Given the description of an element on the screen output the (x, y) to click on. 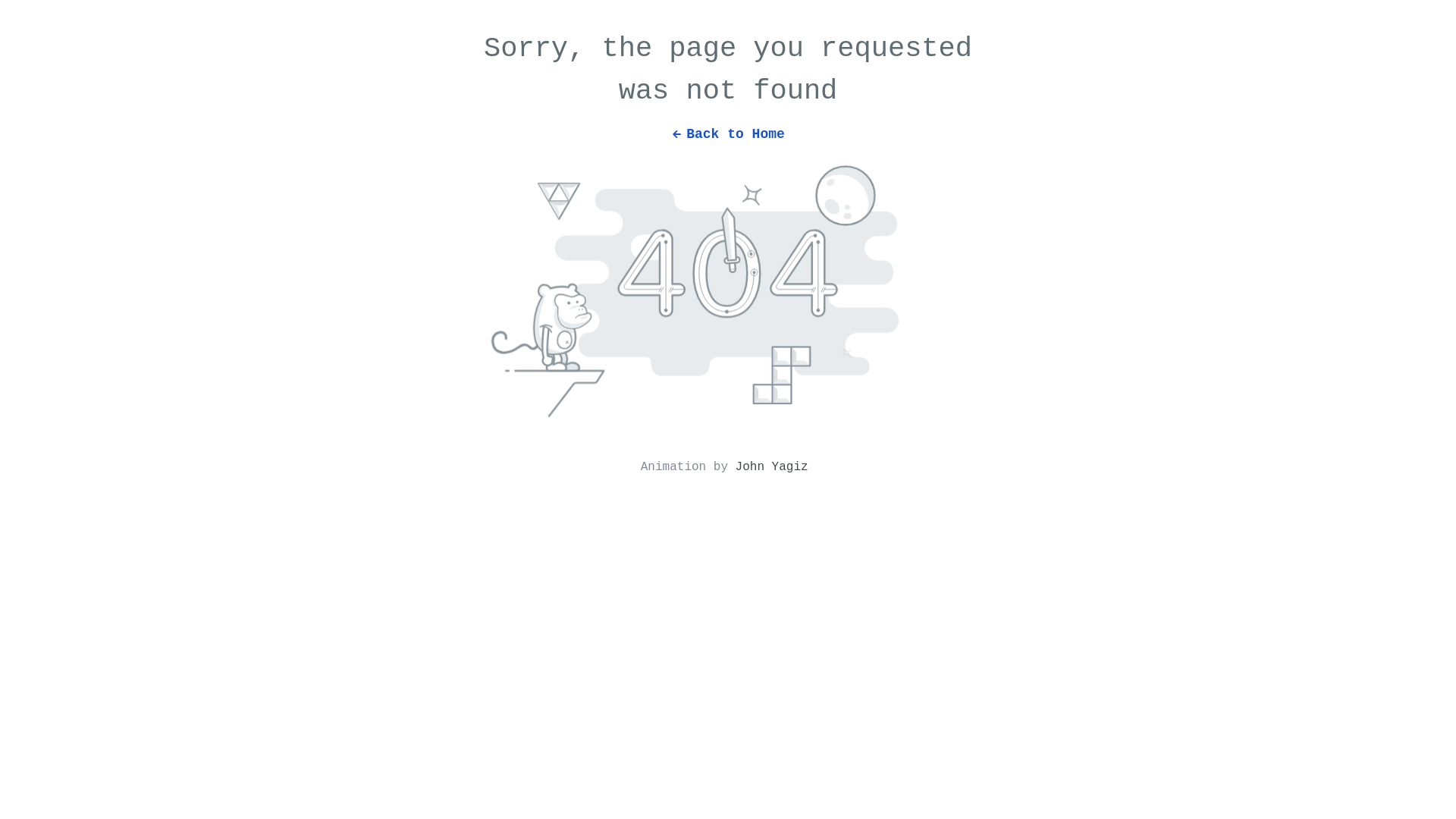
John Yagiz Element type: text (771, 466)
Back to Home Element type: text (727, 126)
